Given the description of an element on the screen output the (x, y) to click on. 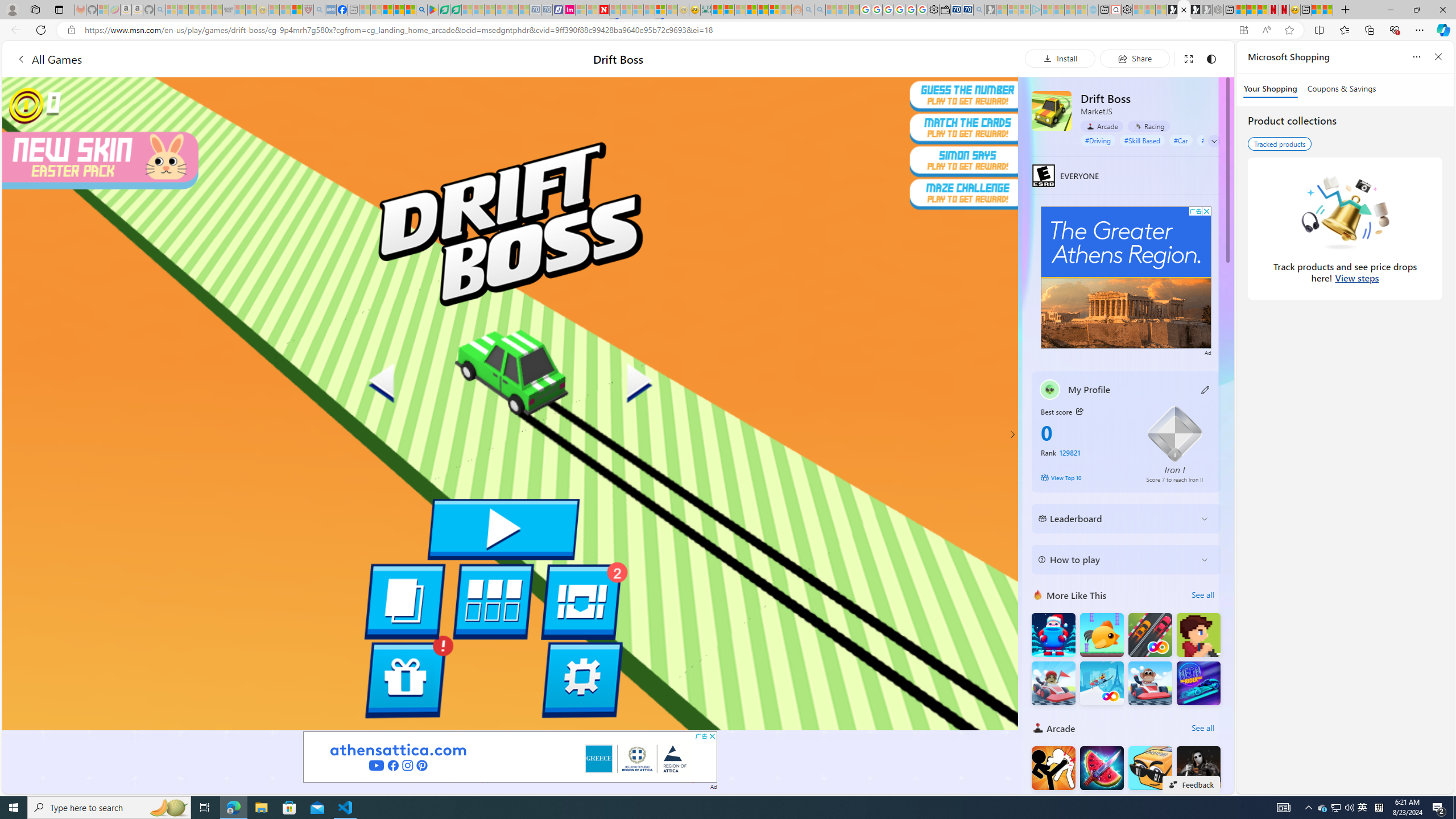
Class: expand-arrow neutral (1214, 141)
Leaderboard (1116, 518)
Settings (1126, 9)
Drag Race FRVR (1149, 634)
Microsoft-Report a Concern to Bing - Sleeping (103, 9)
App available. Install Drift Boss (1243, 29)
Local - MSN (296, 9)
Class: button edit-icon (1205, 388)
King Kong Kart Racing (1149, 683)
Restore (1416, 9)
Advertisement (1126, 277)
Arcade (1101, 126)
